Given the description of an element on the screen output the (x, y) to click on. 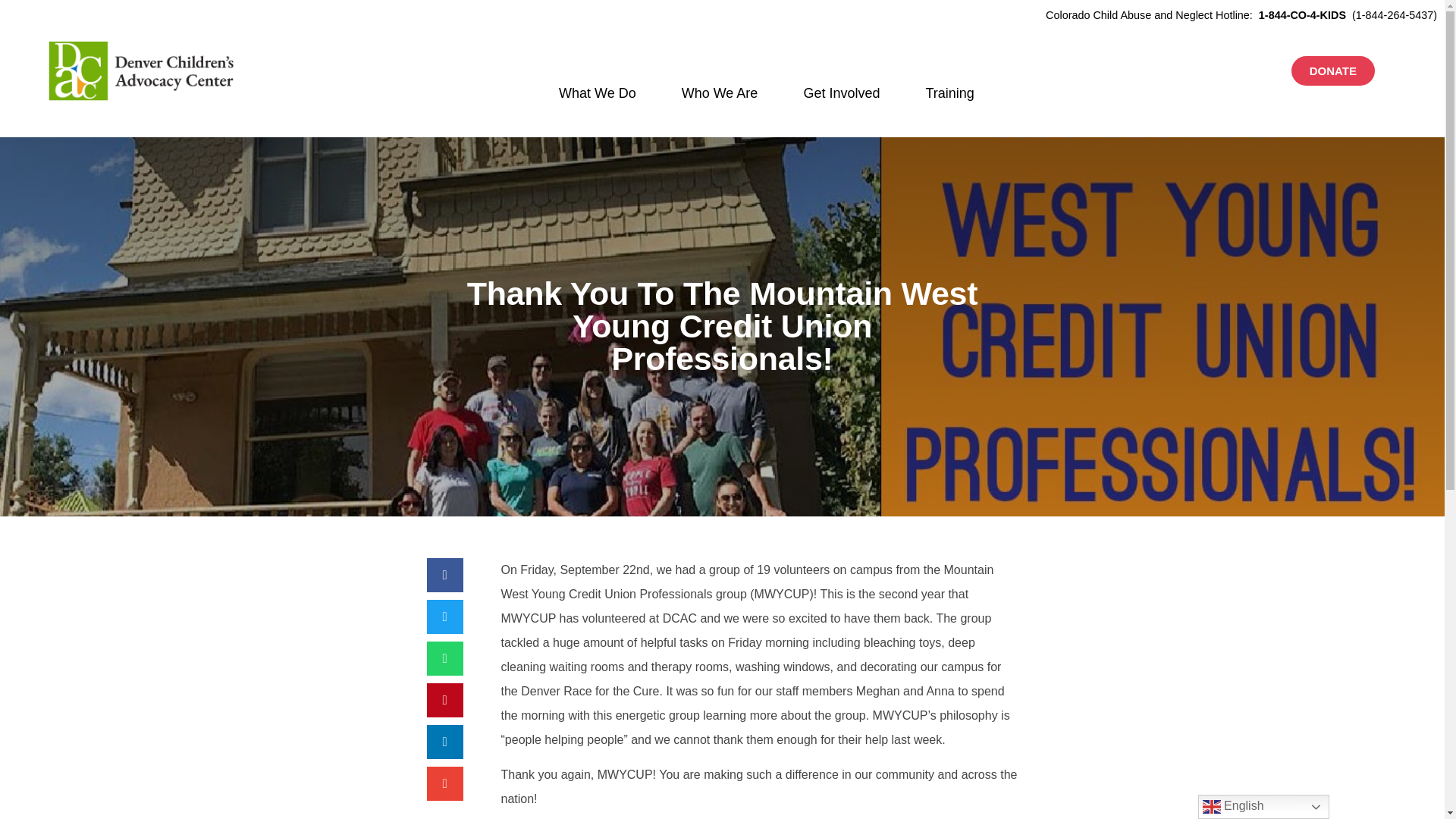
Who We Are (719, 93)
Get Involved (841, 93)
DONATE (1332, 70)
What We Do (597, 93)
English (1263, 806)
Training (948, 93)
